Given the description of an element on the screen output the (x, y) to click on. 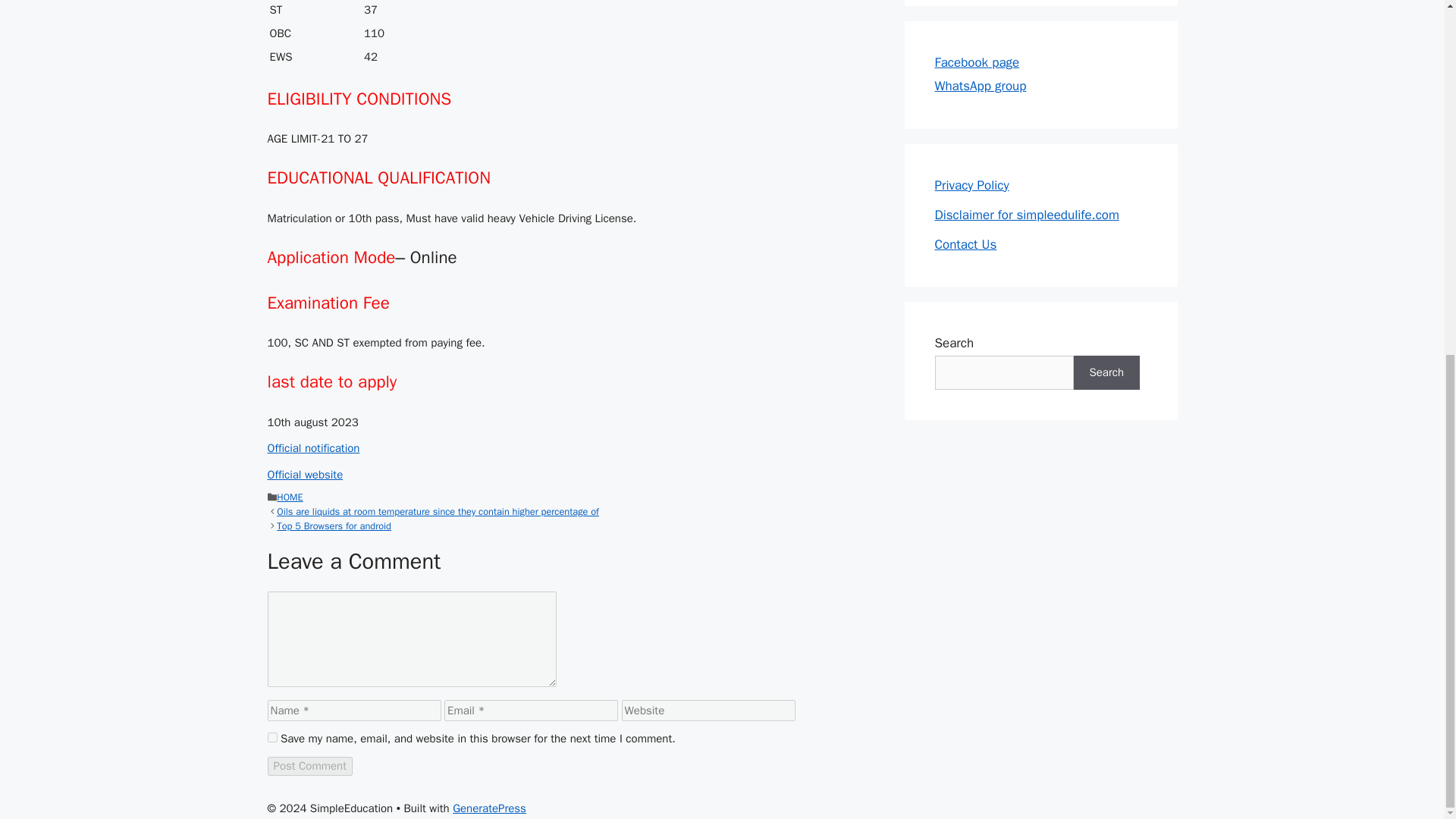
Facebook page (976, 62)
Search (1107, 372)
Post Comment (309, 765)
Contact Us (964, 244)
HOME (289, 497)
GeneratePress (488, 807)
Disclaimer for simpleedulife.com (1026, 214)
WhatsApp group (980, 85)
Official website (304, 474)
